Given the description of an element on the screen output the (x, y) to click on. 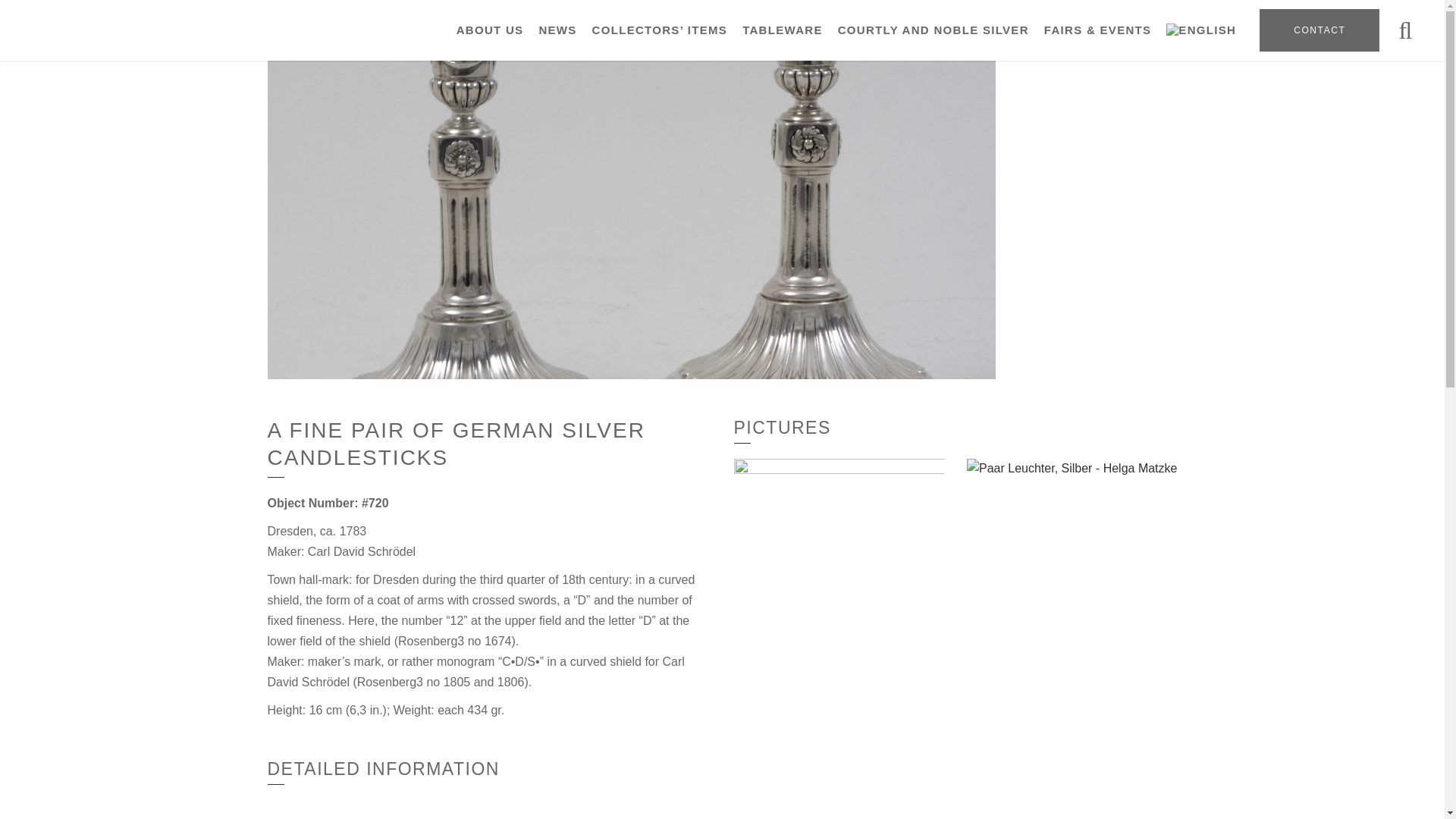
TABLEWARE (782, 30)
CONTACT (1318, 30)
Paar Leuchter, Silber - Helga Matzke (1071, 538)
ABOUT US (489, 30)
COURTLY AND NOBLE SILVER (932, 30)
NEWS (557, 30)
